Given the description of an element on the screen output the (x, y) to click on. 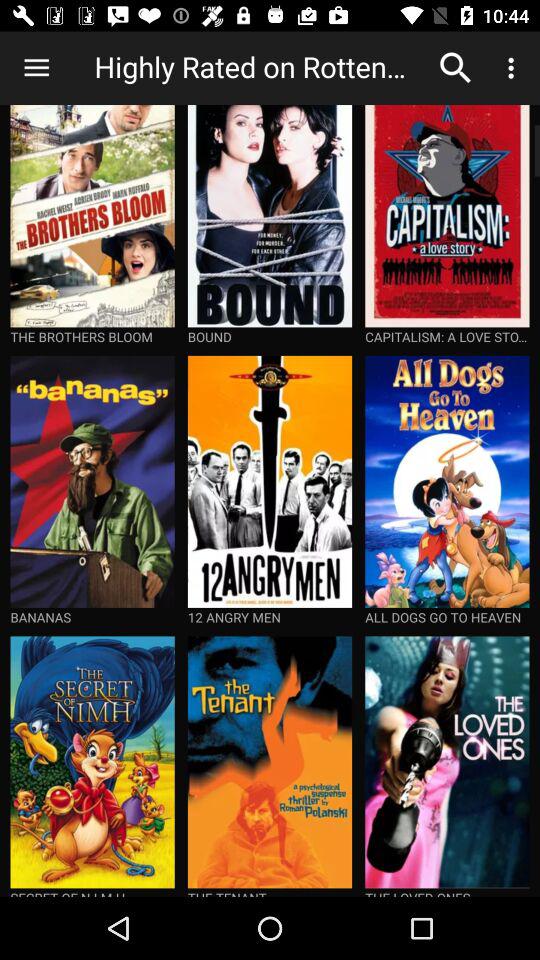
turn on the icon to the right of the highly rated on item (455, 67)
